Given the description of an element on the screen output the (x, y) to click on. 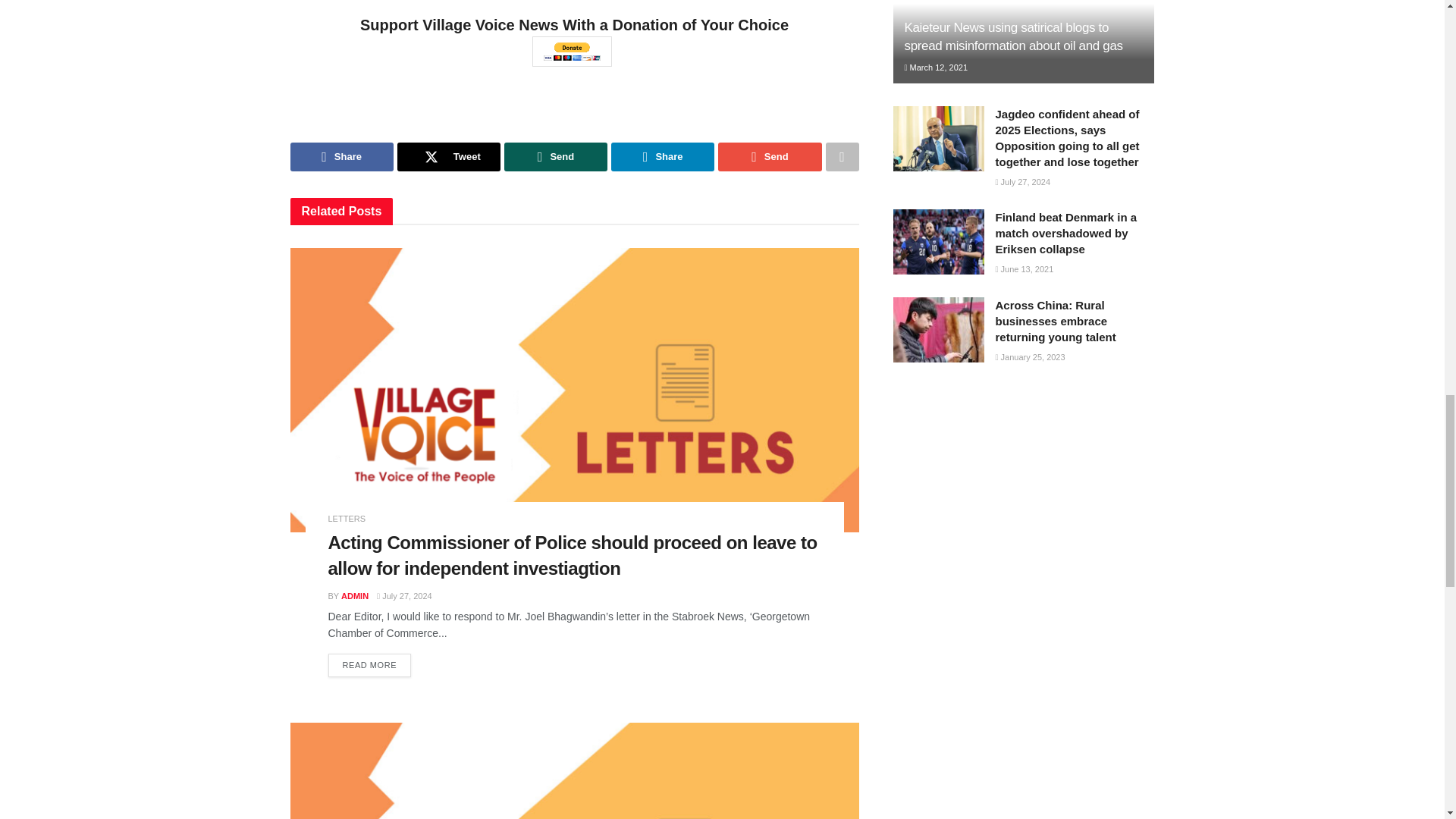
PayPal - The safer, easier way to pay online! (571, 51)
